Given the description of an element on the screen output the (x, y) to click on. 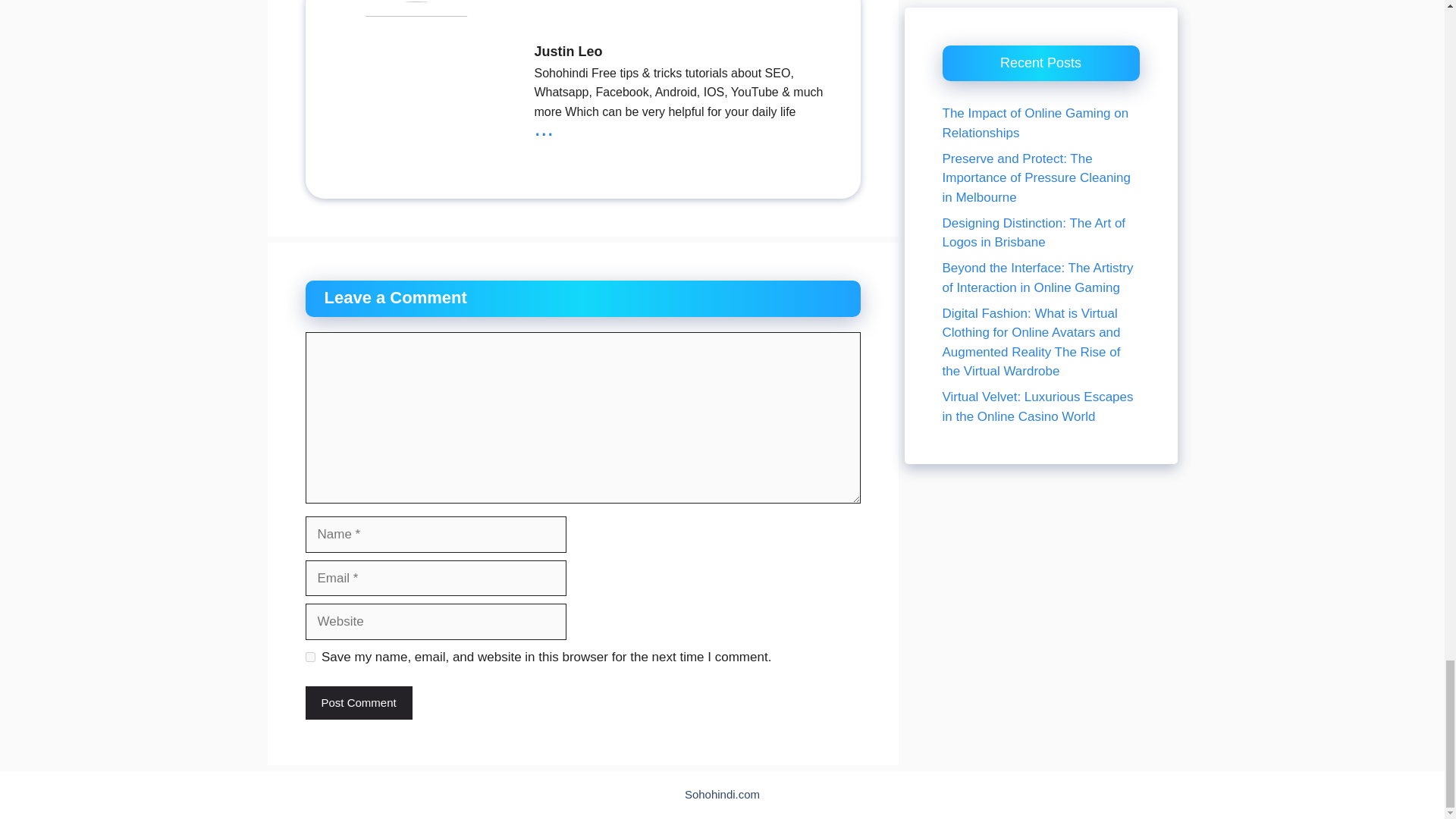
yes (309, 656)
Post Comment (358, 703)
Post Comment (358, 703)
